Given the description of an element on the screen output the (x, y) to click on. 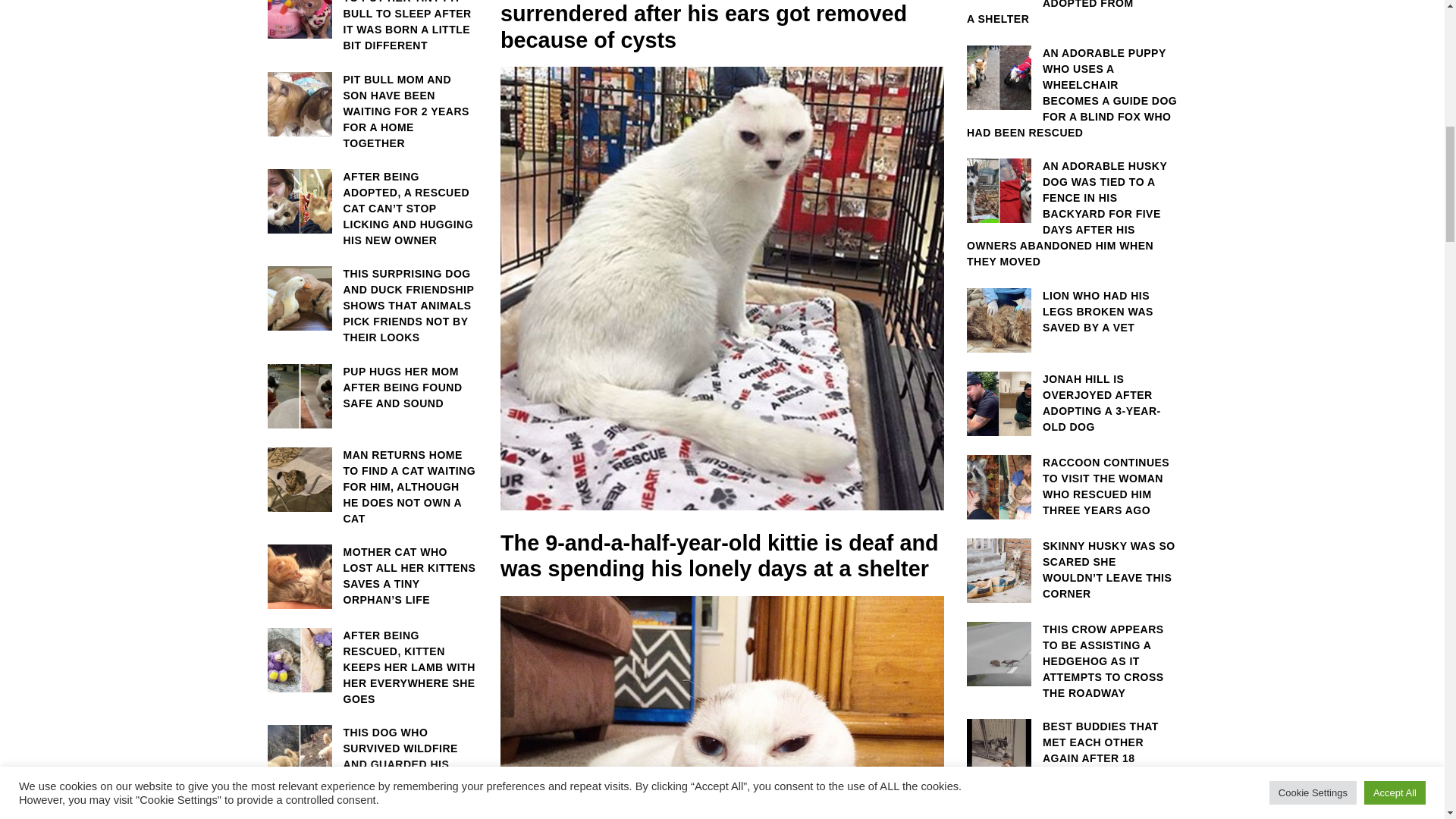
JONAH HILL IS OVERJOYED AFTER ADOPTING A 3-YEAR-OLD DOG (1071, 402)
LION WHO HAD HIS LEGS BROKEN WAS SAVED BY A VET (1071, 311)
PUP HUGS HER MOM AFTER BEING FOUND SAFE AND SOUND (371, 387)
